Given the description of an element on the screen output the (x, y) to click on. 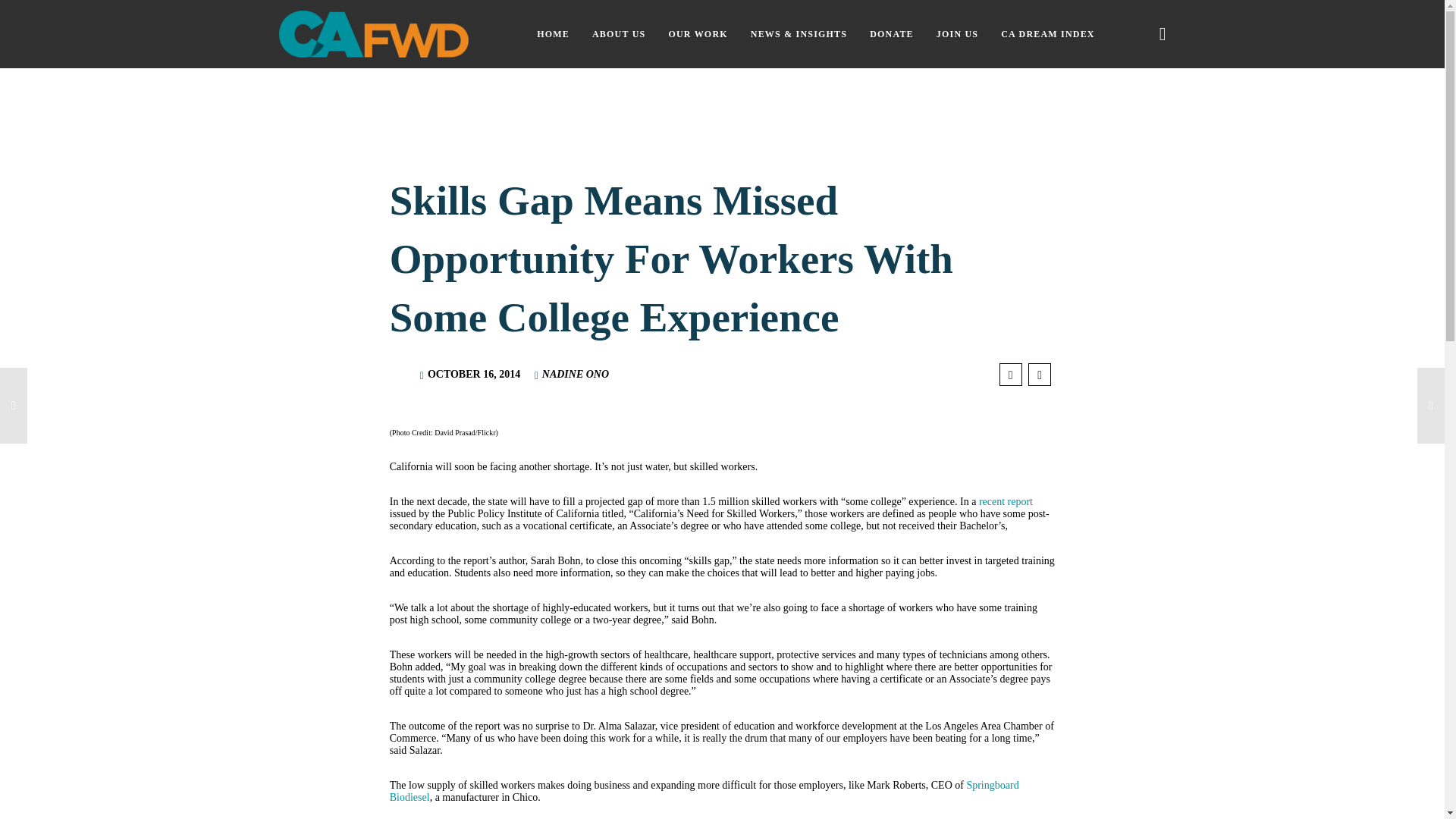
California Forward (373, 33)
